Given the description of an element on the screen output the (x, y) to click on. 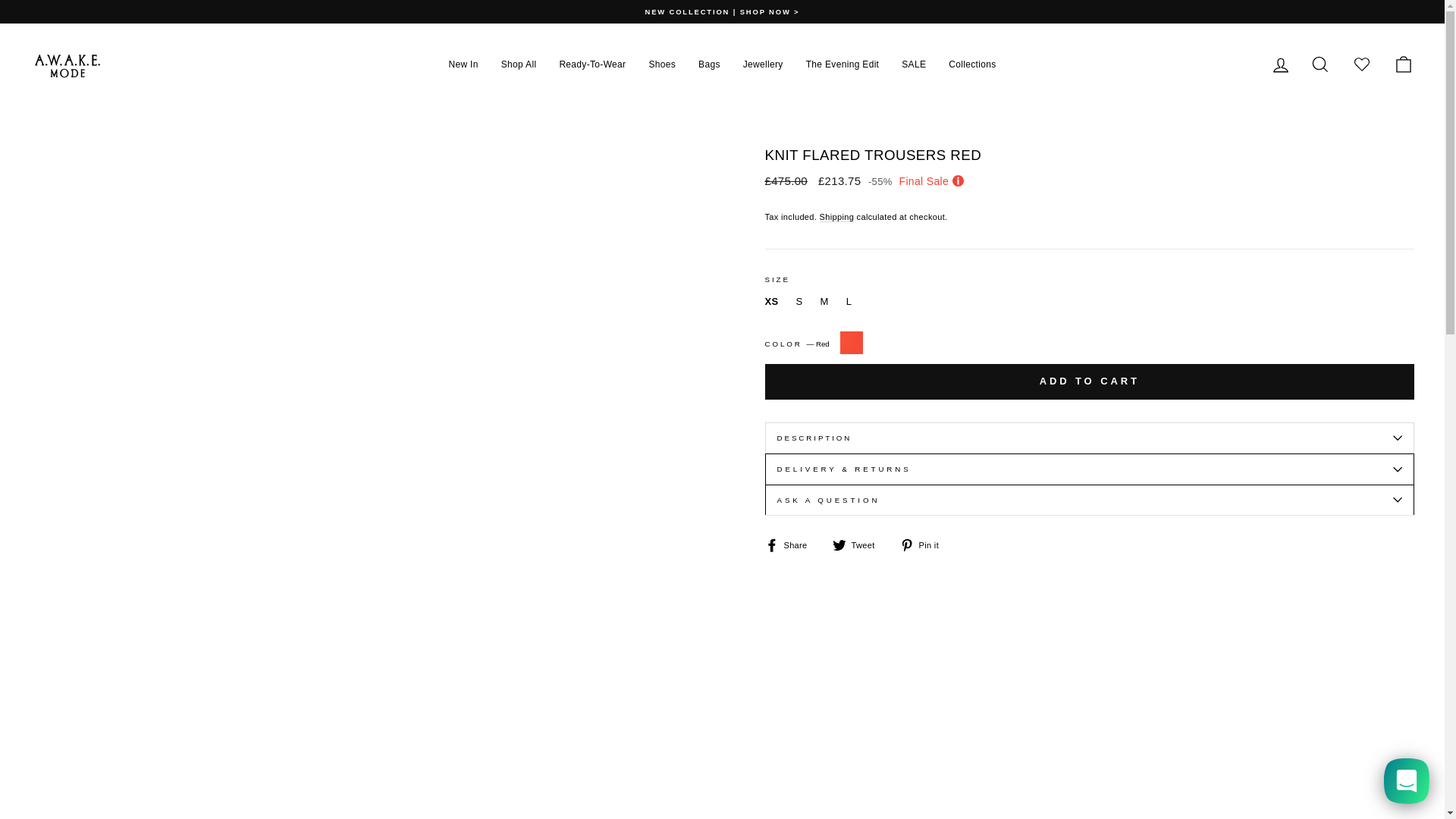
Pin on Pinterest (924, 545)
Share on Facebook (791, 545)
Tweet on Twitter (859, 545)
